Given the description of an element on the screen output the (x, y) to click on. 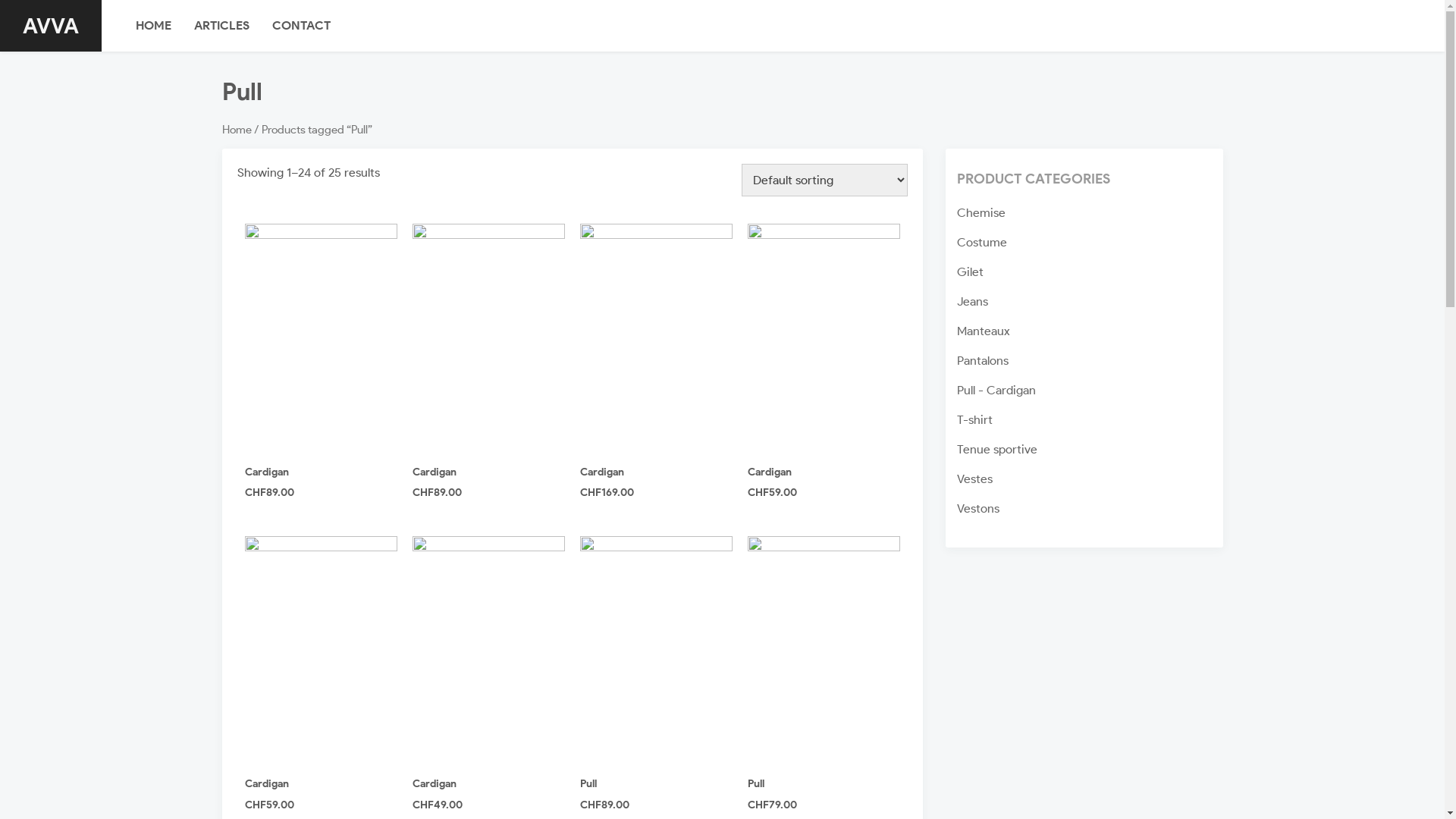
Skip to content Element type: text (0, 0)
A82501511-1 Element type: hover (655, 650)
Cardigan Element type: text (434, 471)
Pull Element type: text (755, 783)
A82503820-1 Element type: hover (655, 337)
A82107403-1 Element type: hover (320, 337)
Jeans Element type: text (972, 301)
ARTICLES Element type: text (221, 25)
A82521812-1 Element type: hover (488, 650)
Pull - Cardigan Element type: text (996, 389)
Pantalons Element type: text (982, 360)
T-shirt Element type: text (974, 419)
Cardigan Element type: text (266, 783)
Home Element type: text (236, 129)
AVVA Element type: text (50, 25)
Vestes Element type: text (974, 478)
Pull Element type: text (587, 783)
Chemise Element type: text (981, 212)
A82504720-2 Element type: hover (823, 337)
Vestons Element type: text (978, 508)
HOME Element type: text (153, 25)
Cardigan Element type: text (601, 471)
Gilet Element type: text (970, 271)
A82107520-1 Element type: hover (488, 337)
Cardigan Element type: text (769, 471)
Cardigan Element type: text (266, 471)
A82507441-1 Element type: hover (320, 650)
A82502320-3 Element type: hover (823, 650)
Cardigan Element type: text (434, 783)
CONTACT Element type: text (301, 25)
Costume Element type: text (982, 242)
Manteaux Element type: text (983, 330)
Tenue sportive Element type: text (997, 449)
